Given the description of an element on the screen output the (x, y) to click on. 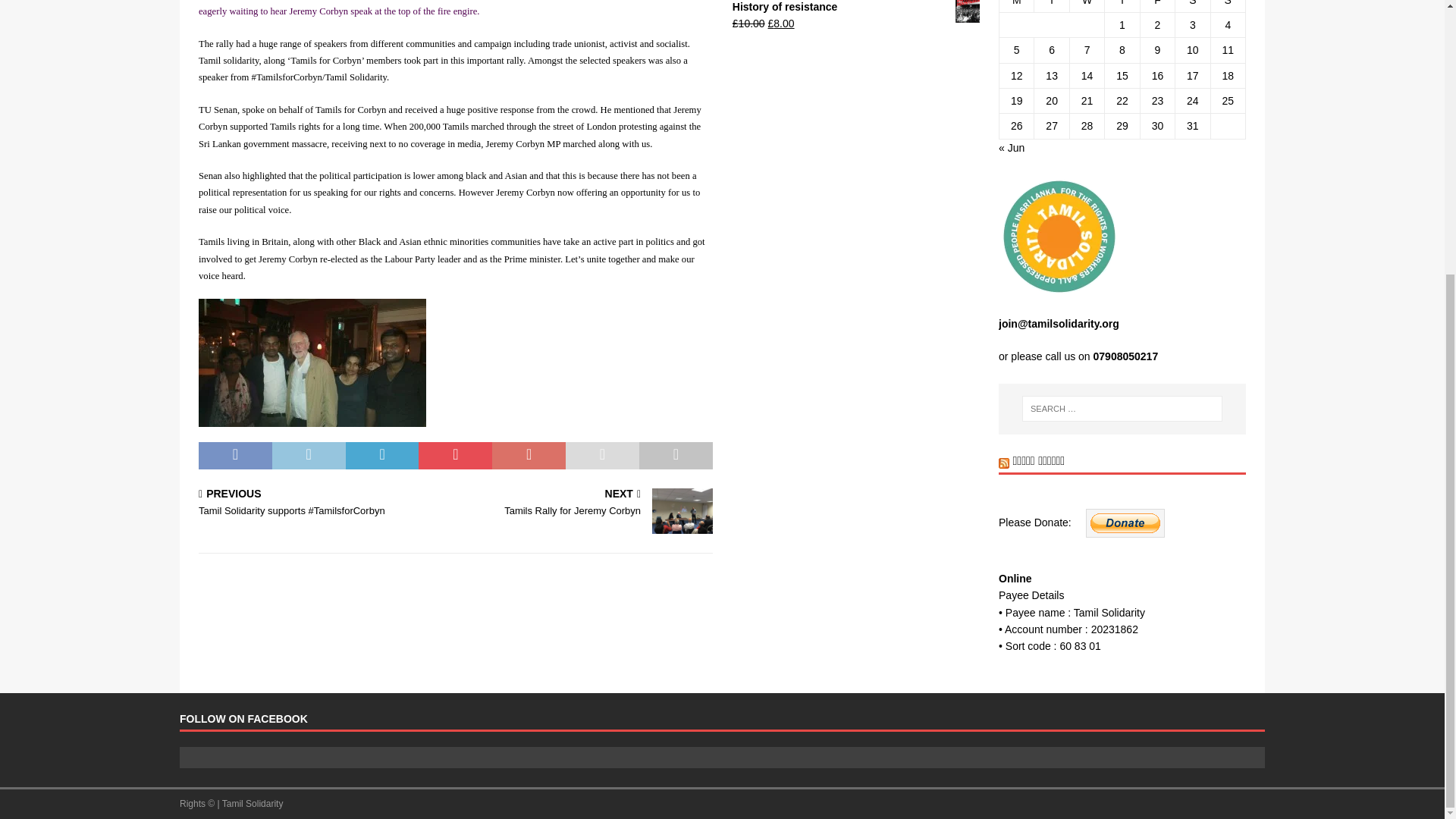
Tuesday (1050, 6)
Monday (1015, 6)
